Given the description of an element on the screen output the (x, y) to click on. 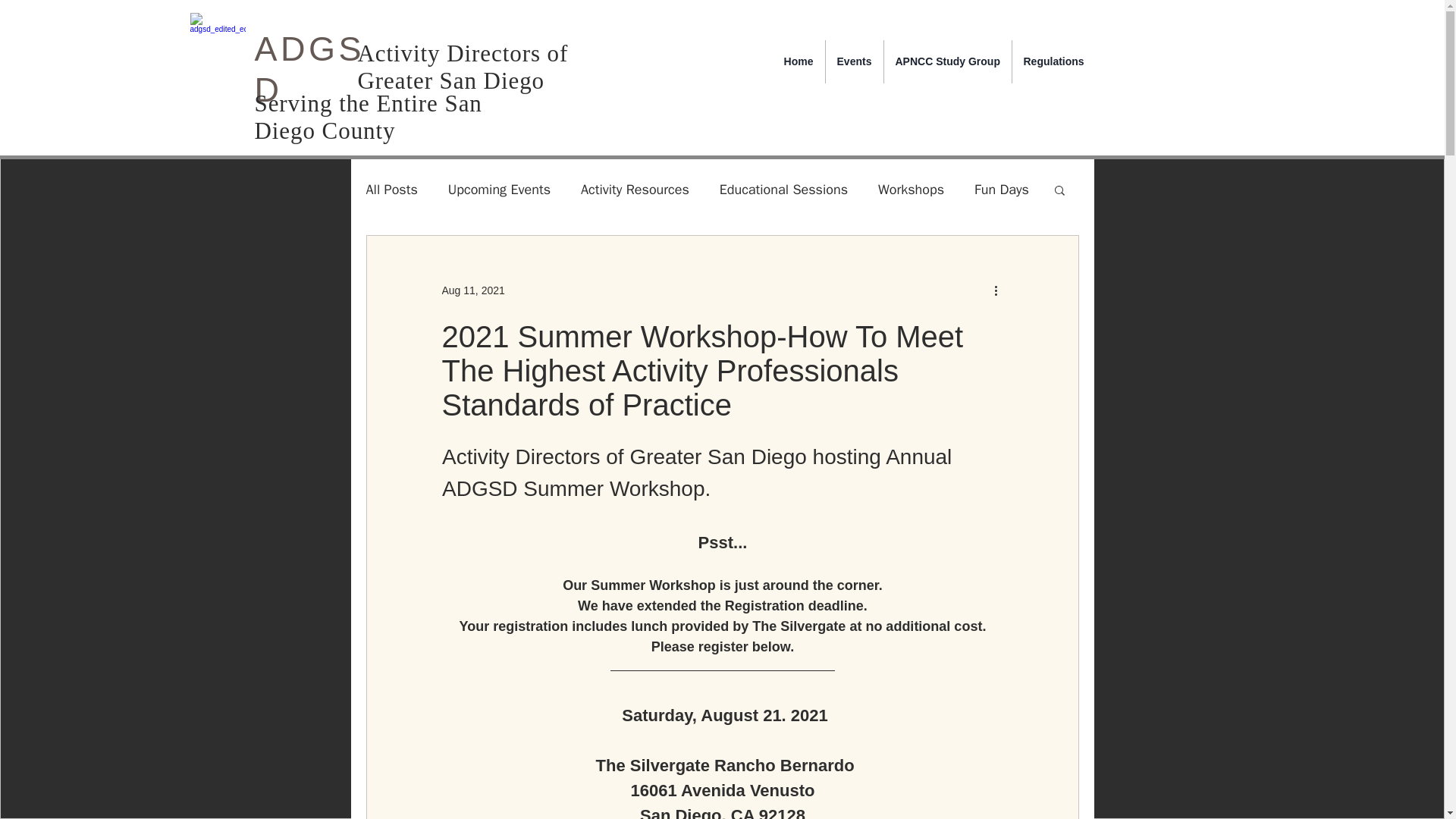
APNCC Study Group (947, 61)
Events (853, 61)
Aug 11, 2021 (472, 289)
Activity Resources (634, 189)
Educational Sessions (783, 189)
All Posts (390, 189)
Regulations (1052, 61)
Home (797, 61)
Fun Days (1001, 189)
Upcoming Events (499, 189)
